Given the description of an element on the screen output the (x, y) to click on. 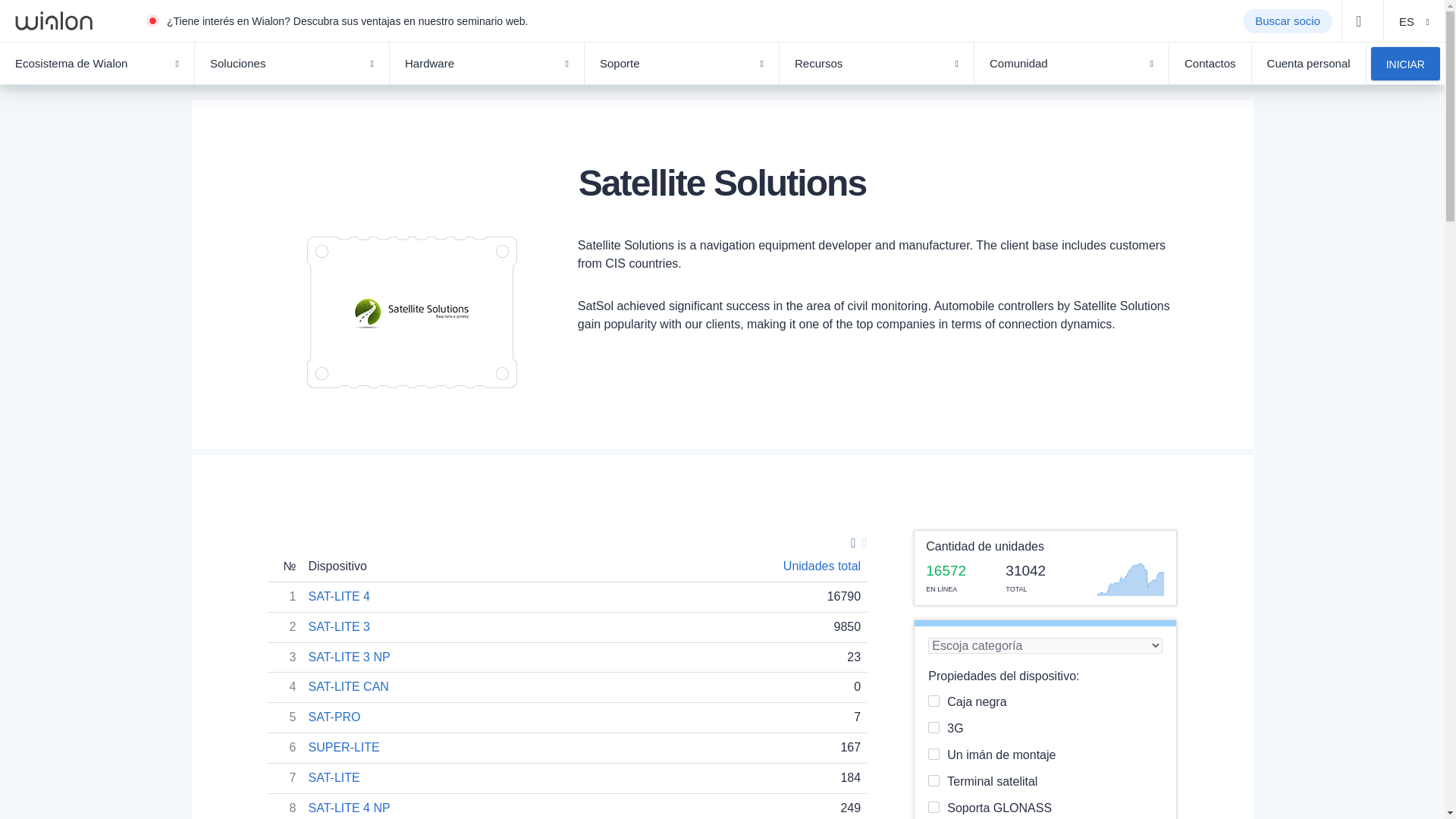
Cuenta personal (1309, 63)
Buscar socio (1287, 21)
Contactos (1210, 63)
INICIAR (1405, 63)
